Given the description of an element on the screen output the (x, y) to click on. 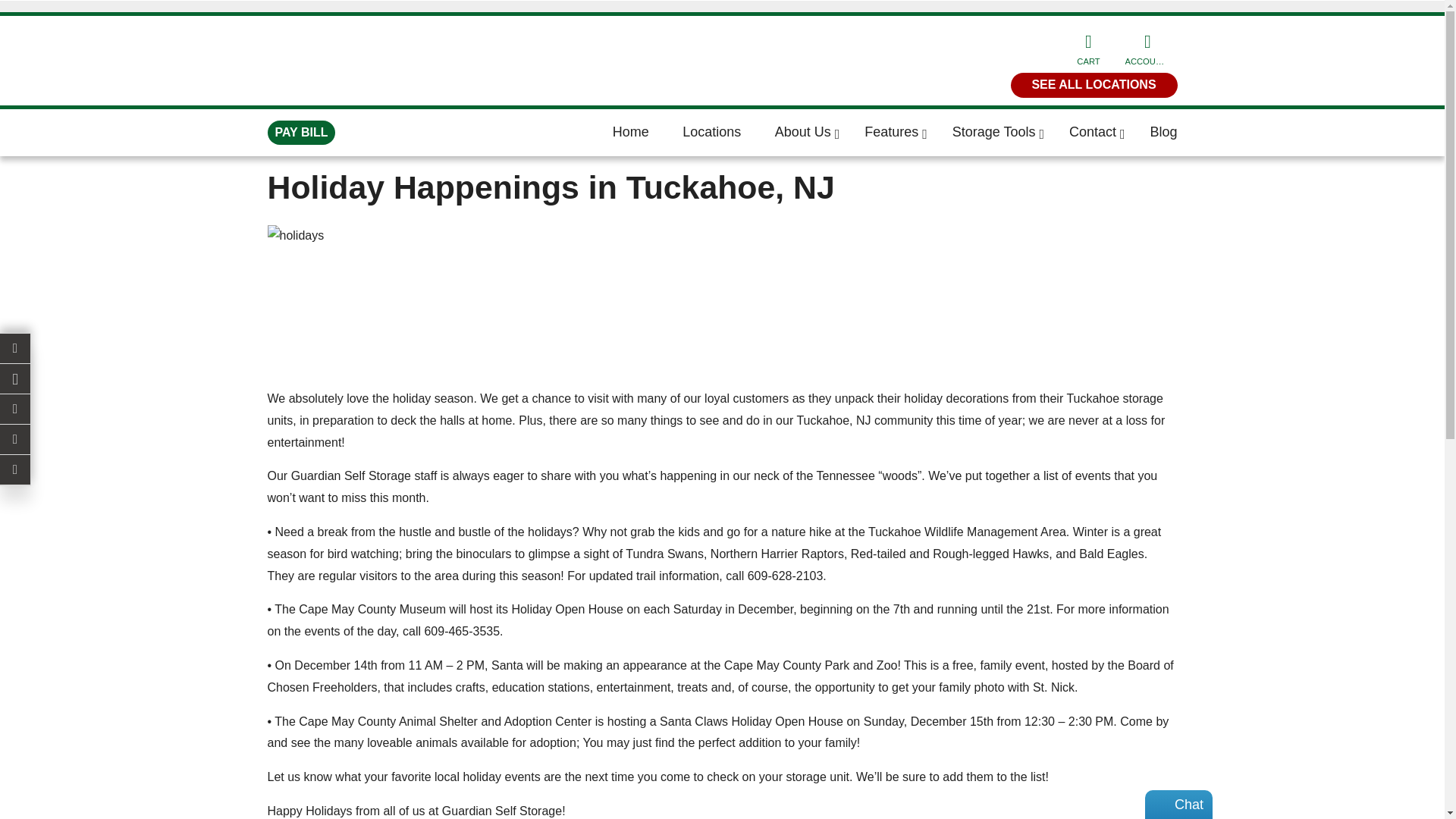
Tuckahoe, NJ community (864, 420)
Account (1147, 48)
Cart (1088, 45)
About Us (817, 131)
Enable Notifications (15, 348)
Locations (726, 131)
PAY BILL (300, 132)
Accessibility Helper (15, 440)
Share Page (15, 409)
Features (906, 131)
Guardian Self Storage (350, 475)
Blog (1163, 131)
Contact (1107, 131)
SEE ALL LOCATIONS (1093, 84)
Enable Location (15, 378)
